Given the description of an element on the screen output the (x, y) to click on. 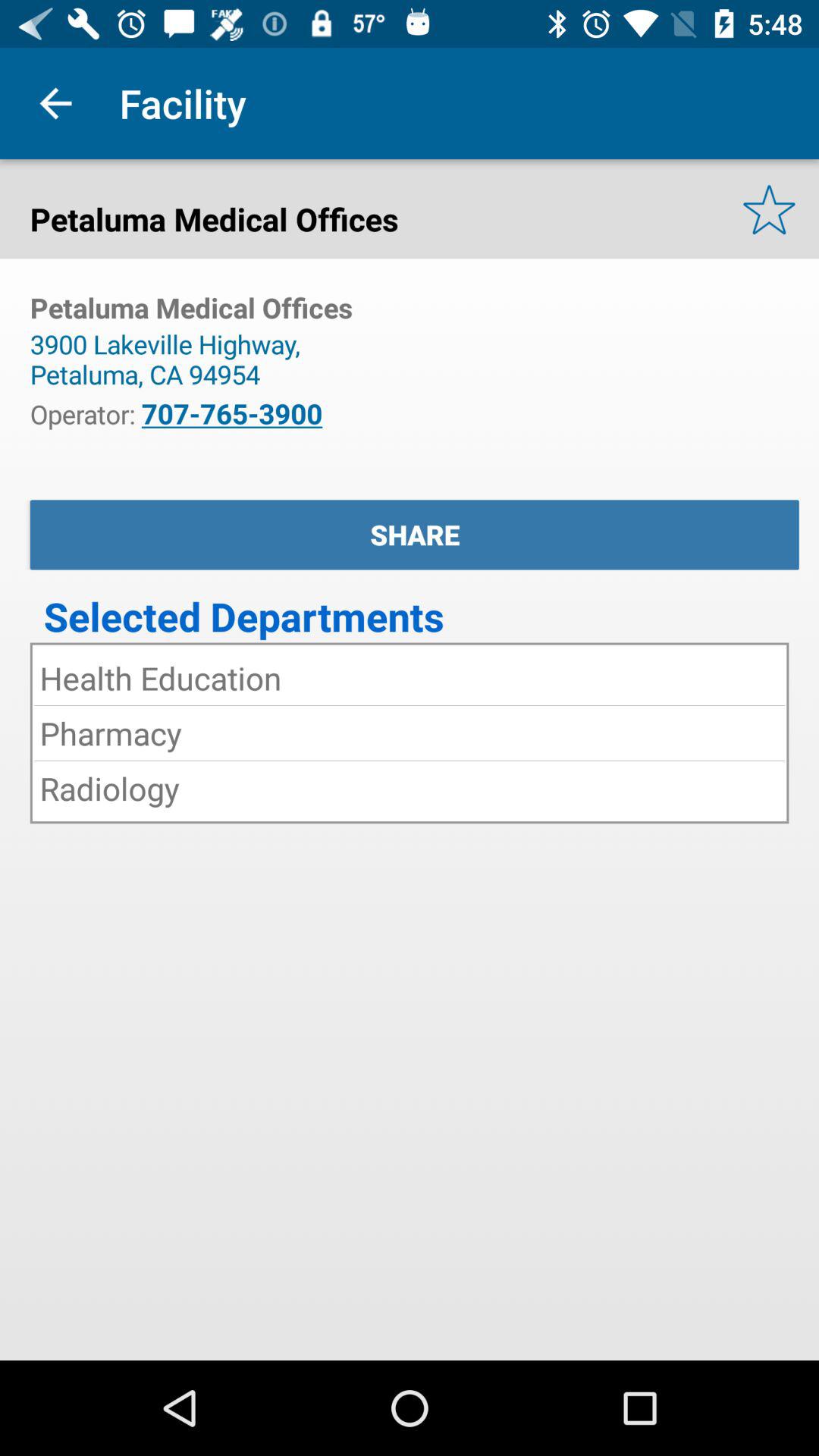
tap the icon below the petaluma medical offices icon (172, 358)
